Given the description of an element on the screen output the (x, y) to click on. 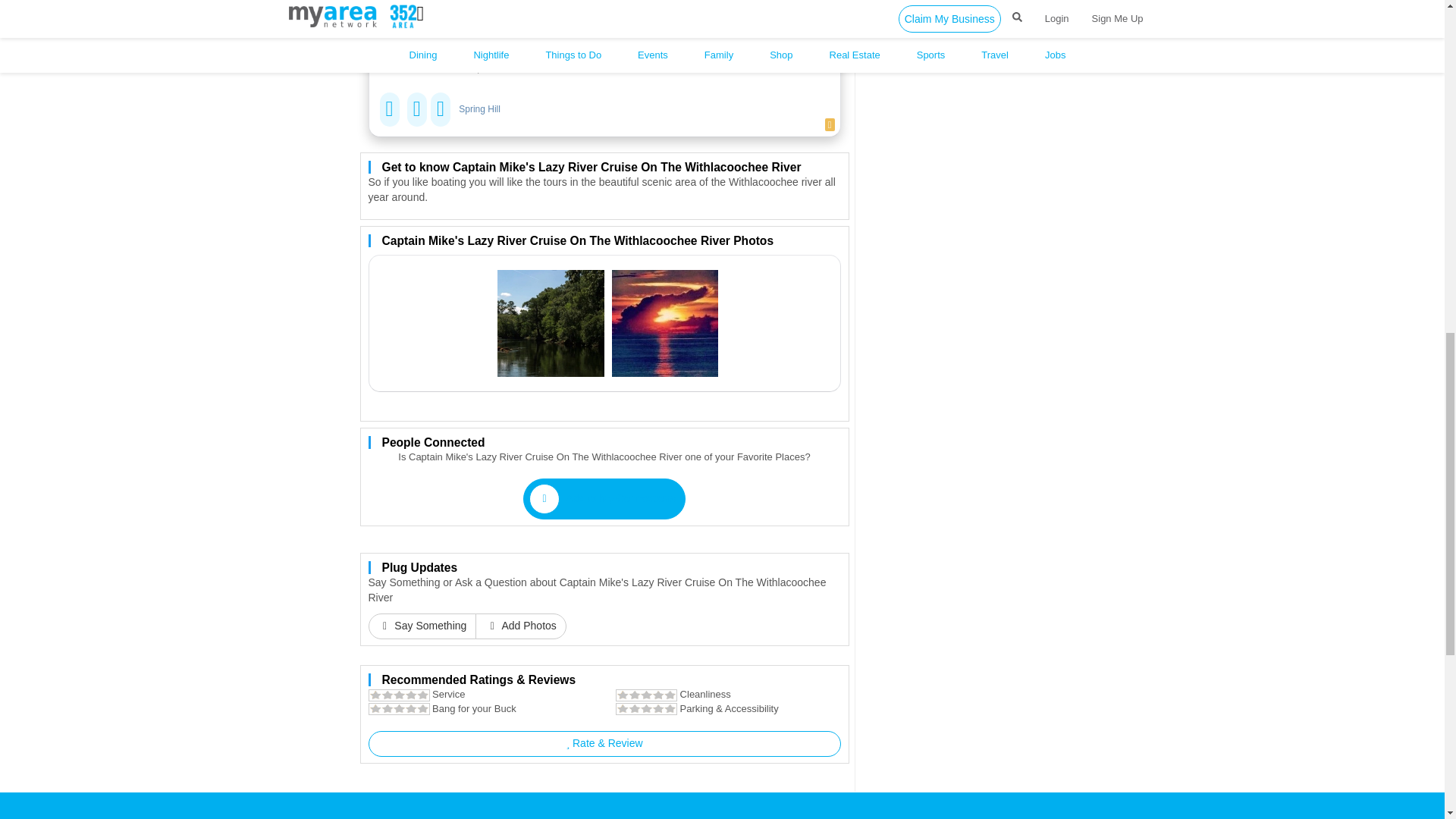
Say Something (422, 626)
6131 Commercial Way, Weeki Wachee FL, 34606 (523, 22)
Spring Hill (479, 108)
Add Photos (521, 626)
Add to My Connections (603, 498)
